Given the description of an element on the screen output the (x, y) to click on. 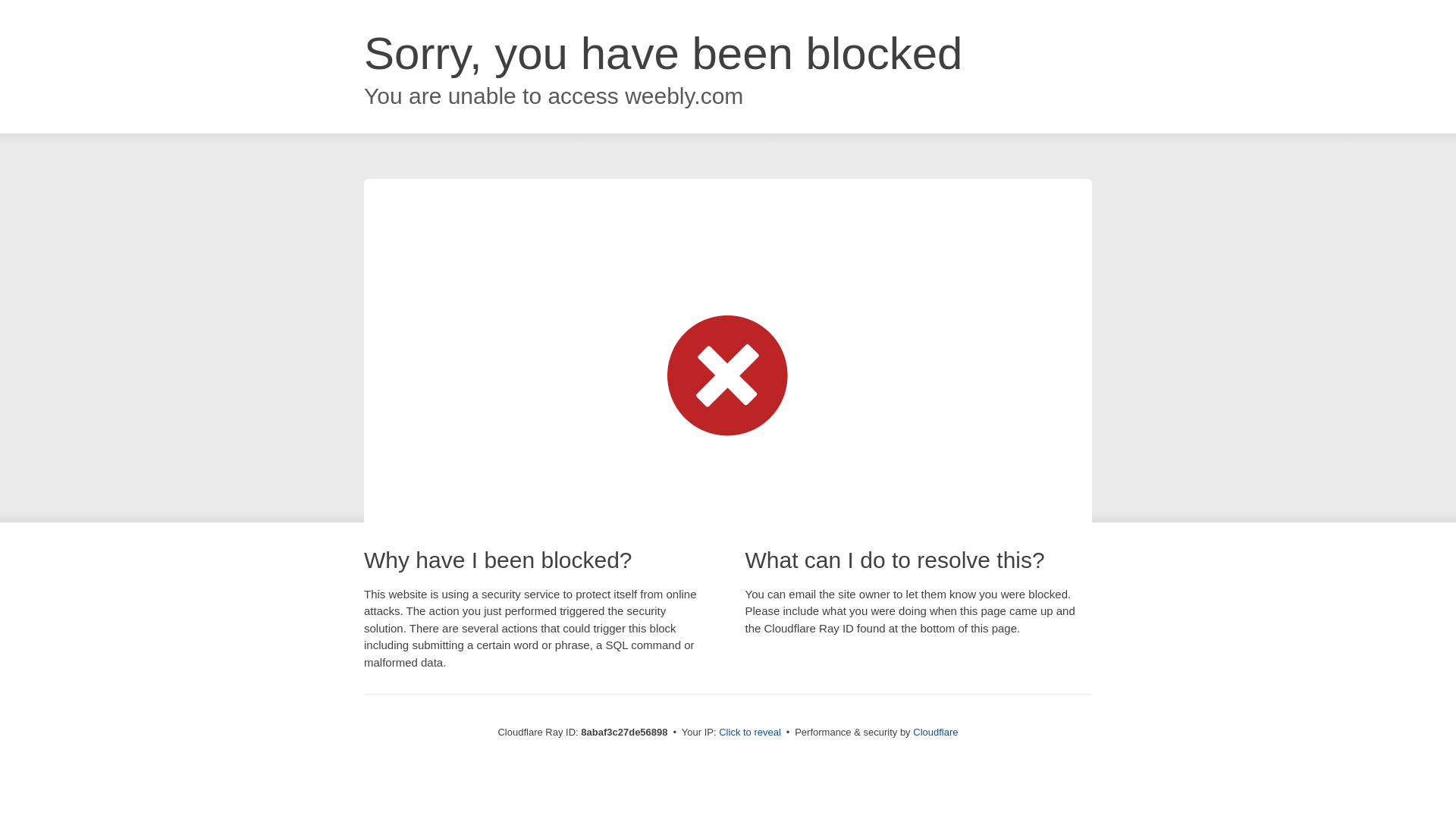
Click to reveal (749, 732)
Cloudflare (935, 731)
